Given the description of an element on the screen output the (x, y) to click on. 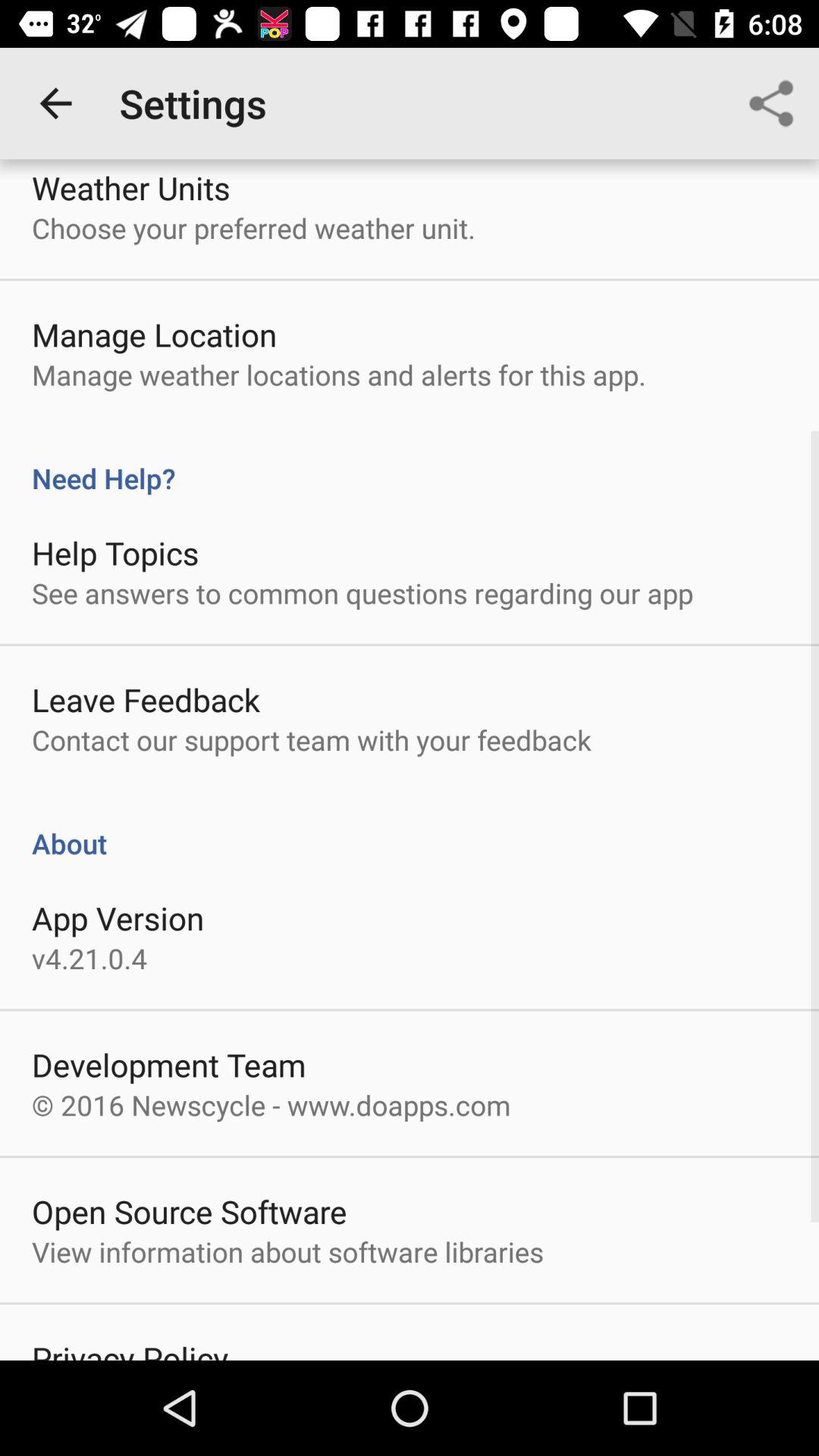
choose the item above the choose your preferred icon (130, 187)
